Given the description of an element on the screen output the (x, y) to click on. 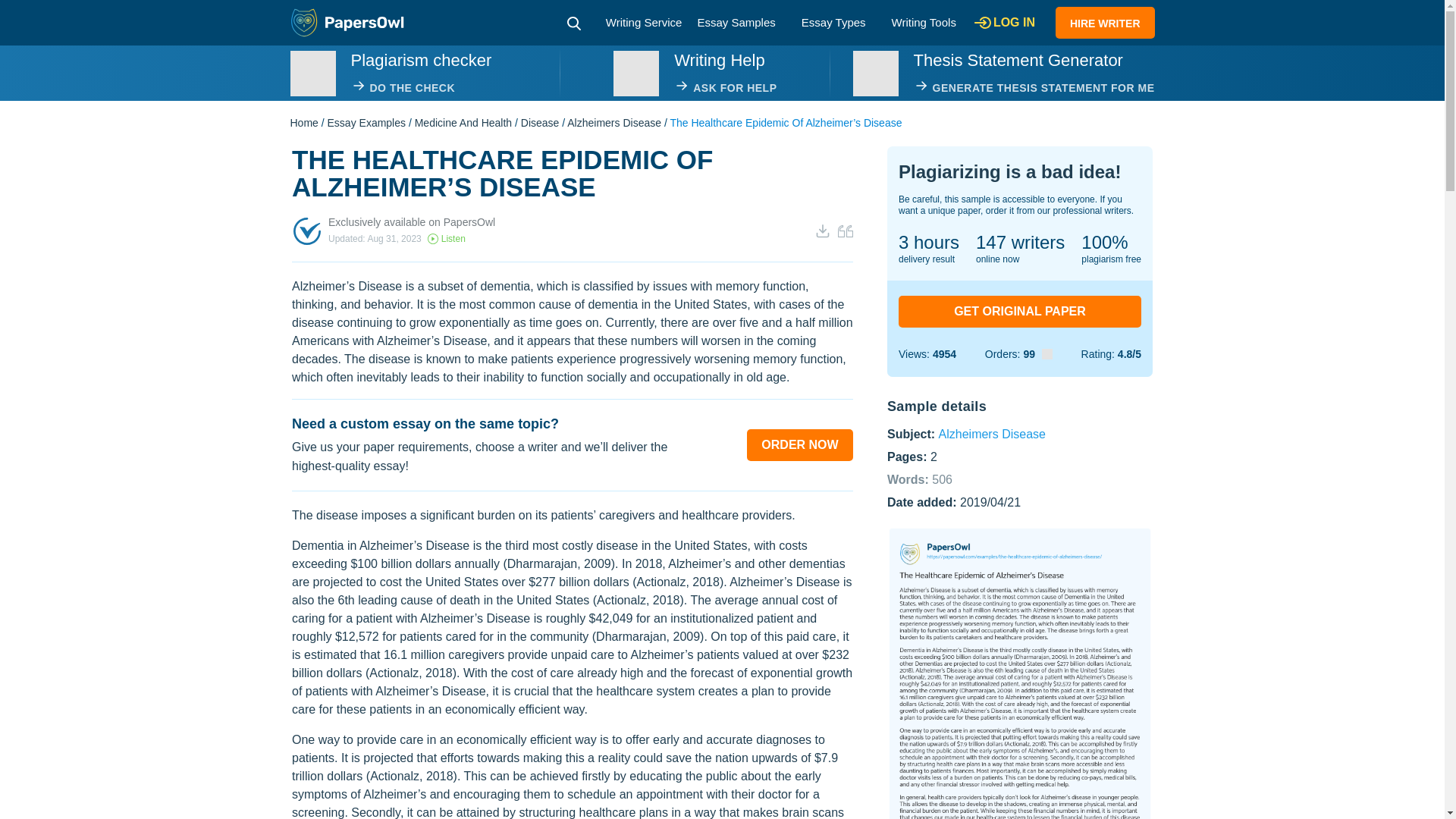
image (635, 72)
Writing Service (643, 21)
image (311, 72)
image (875, 72)
